Given the description of an element on the screen output the (x, y) to click on. 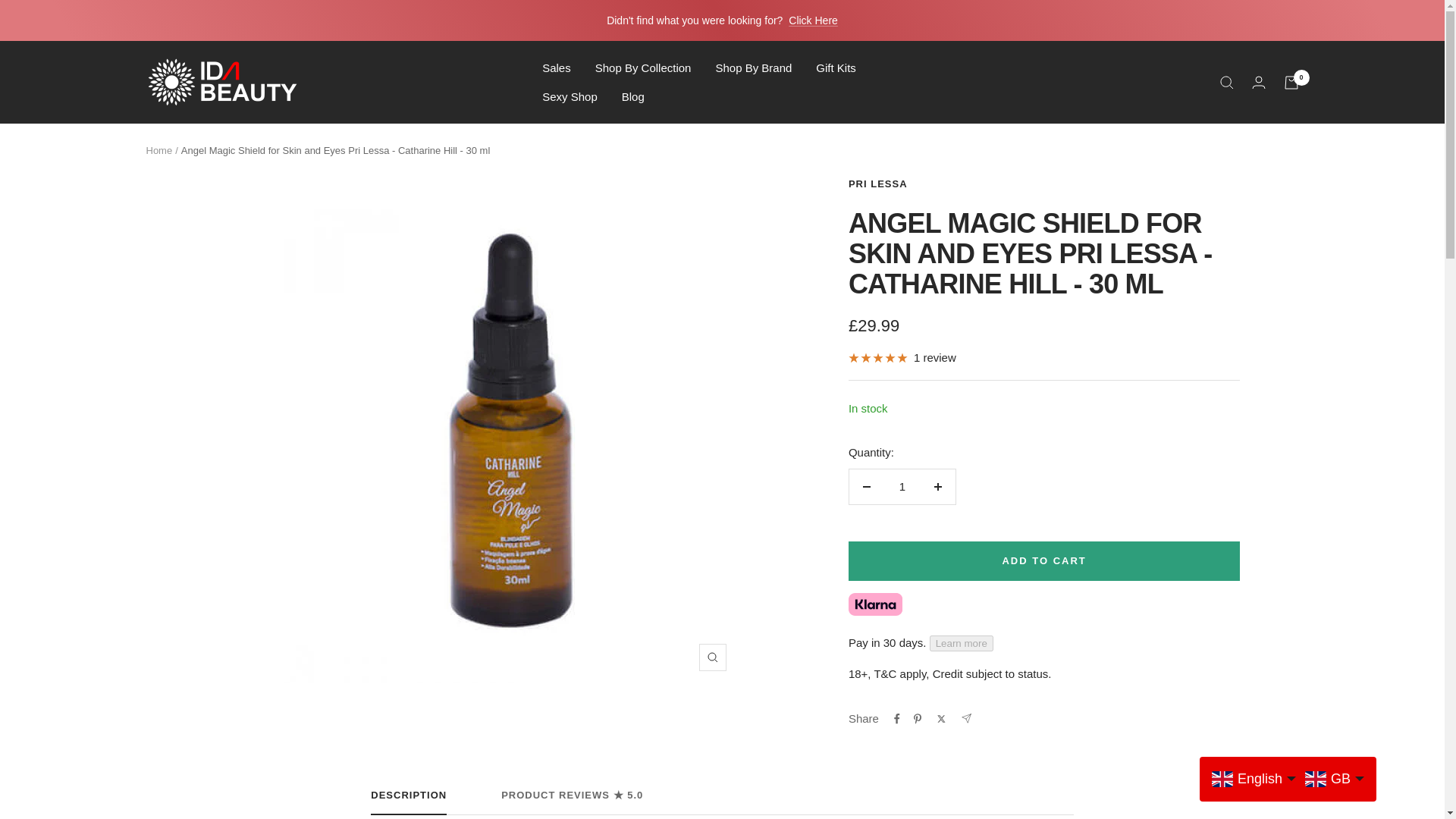
Click Here (813, 20)
Shop By Brand (753, 67)
1 review (902, 357)
ADD TO CART (1044, 560)
IDA Beauty UK (221, 81)
Blog (633, 96)
0 (1291, 82)
PRI LESSA (877, 183)
Sexy Shop (568, 96)
Gift Kits (835, 67)
Shop By Collection (643, 67)
Zoom (712, 656)
Sales (555, 67)
Decrease quantity (865, 486)
1 (901, 486)
